Given the description of an element on the screen output the (x, y) to click on. 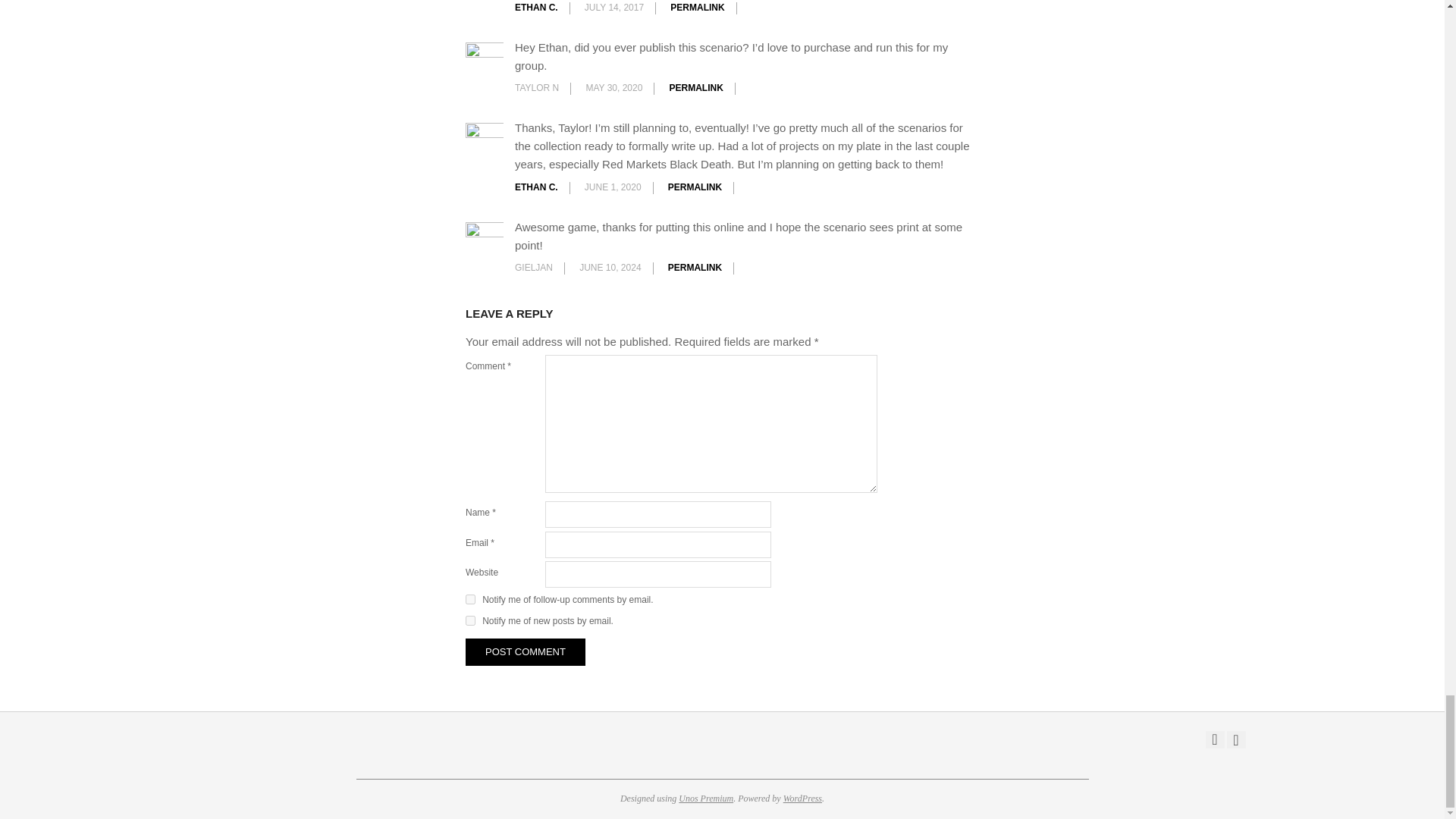
Post Comment (525, 651)
subscribe (470, 620)
subscribe (470, 599)
